Given the description of an element on the screen output the (x, y) to click on. 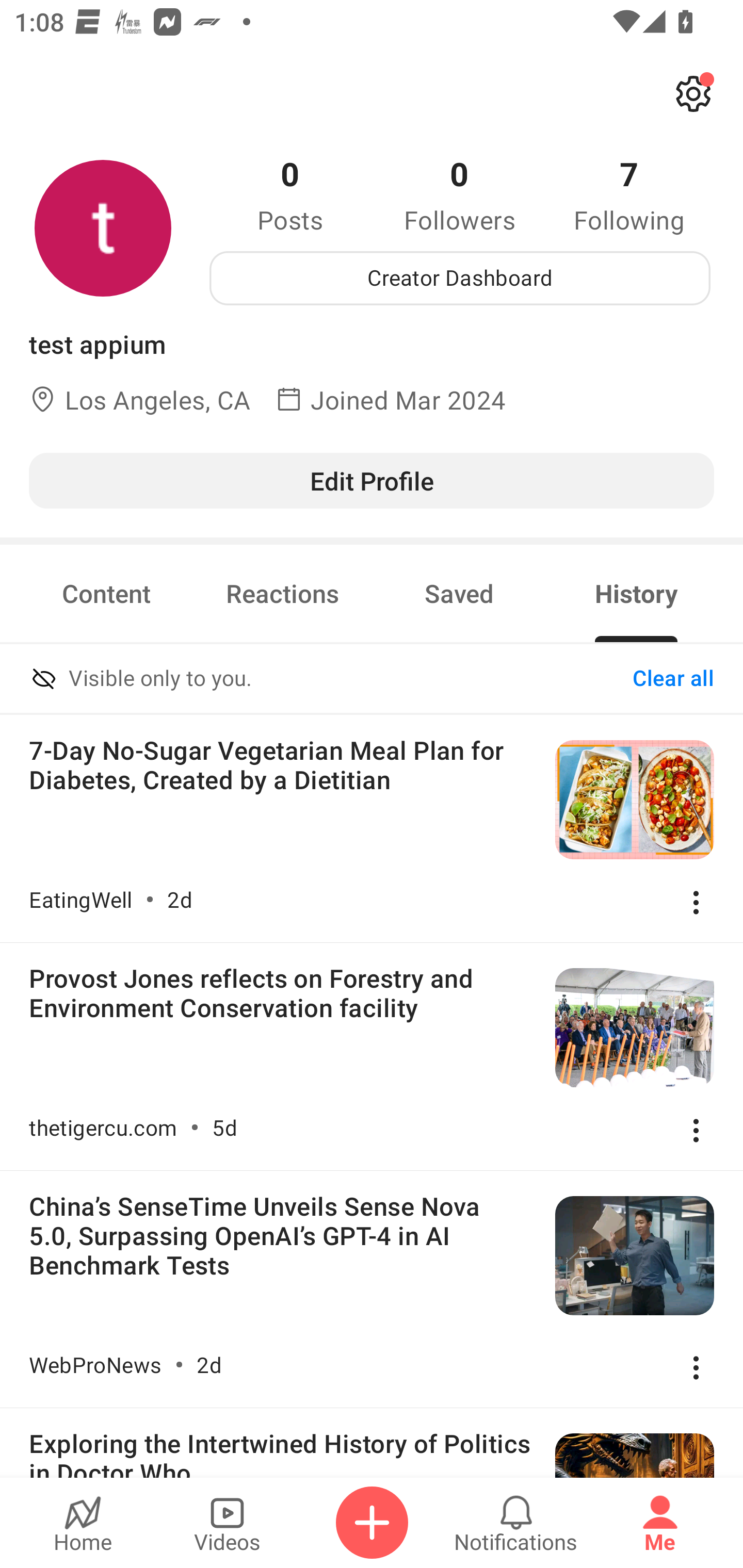
0 Followers (459, 194)
7 Following (629, 194)
Creator Dashboard (459, 277)
Edit Profile (371, 480)
Content (105, 593)
Reactions (282, 593)
Saved (459, 593)
Visible only to you. Clear all (371, 679)
Clear all (673, 678)
Home (83, 1522)
Videos (227, 1522)
Notifications (516, 1522)
